Given the description of an element on the screen output the (x, y) to click on. 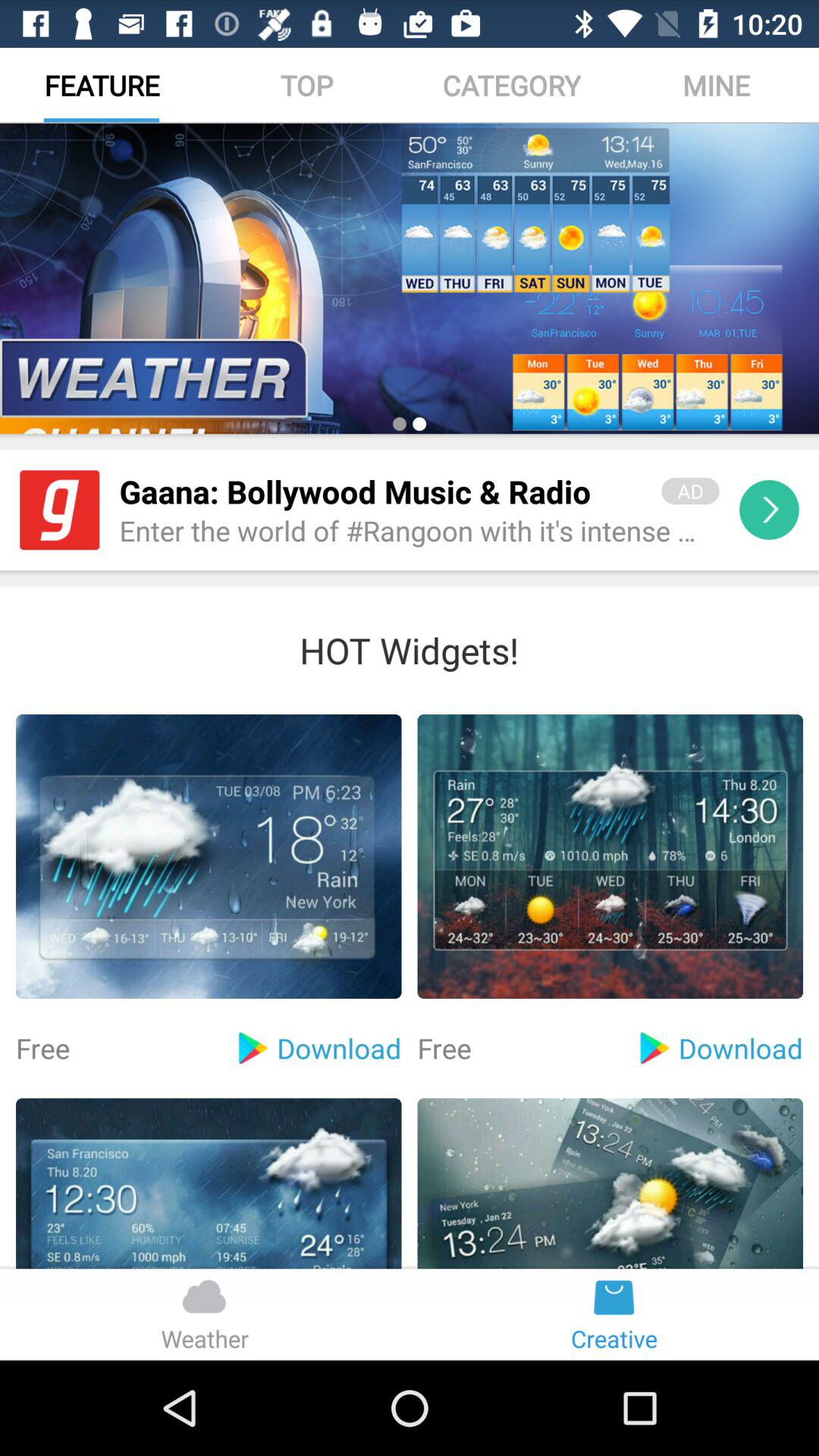
turn on app to the left of the ad (380, 491)
